Given the description of an element on the screen output the (x, y) to click on. 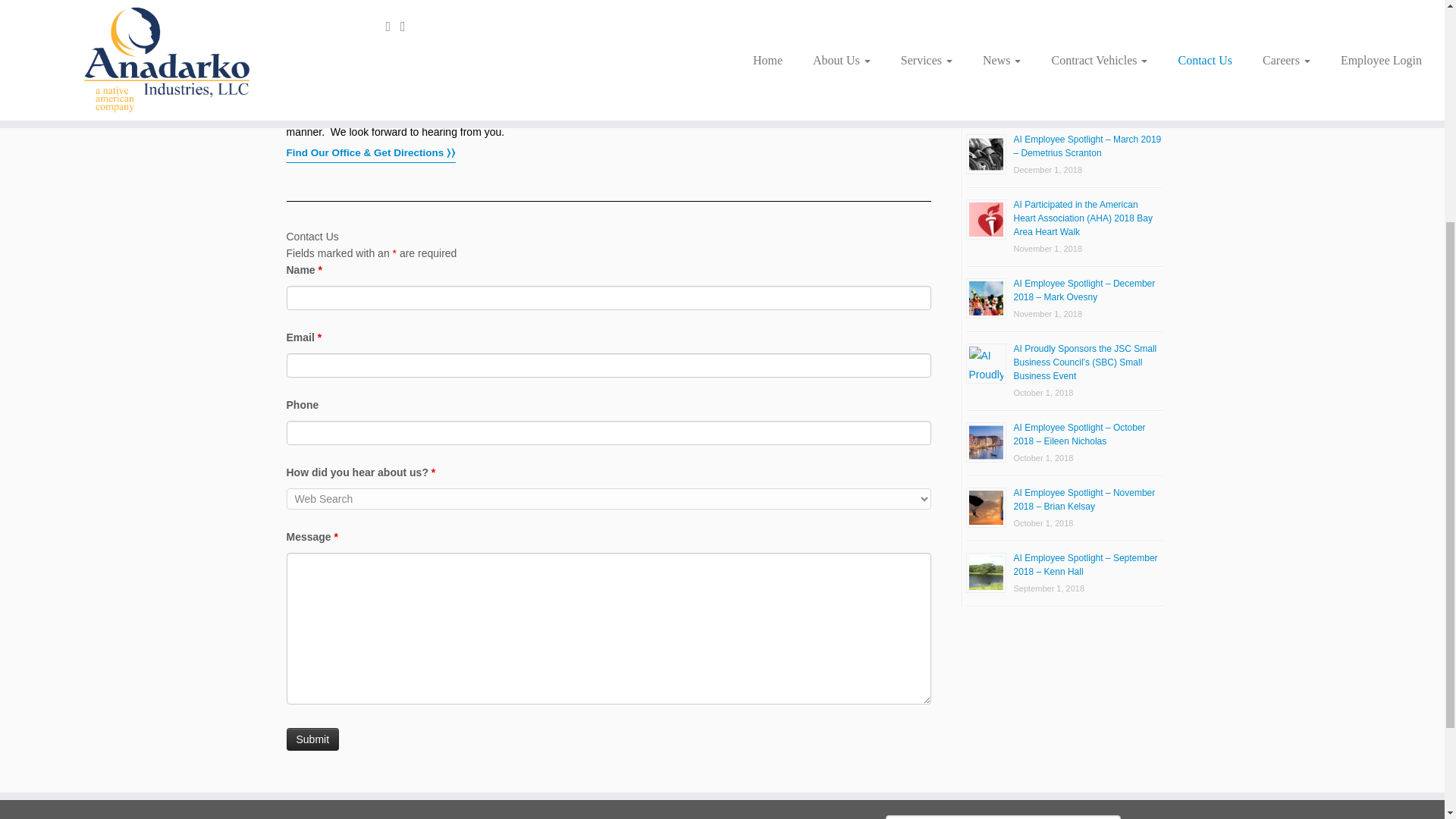
Submit (312, 739)
Anadarko Industries Receives Super Nova Safety Award (1086, 15)
Submit (312, 739)
